Given the description of an element on the screen output the (x, y) to click on. 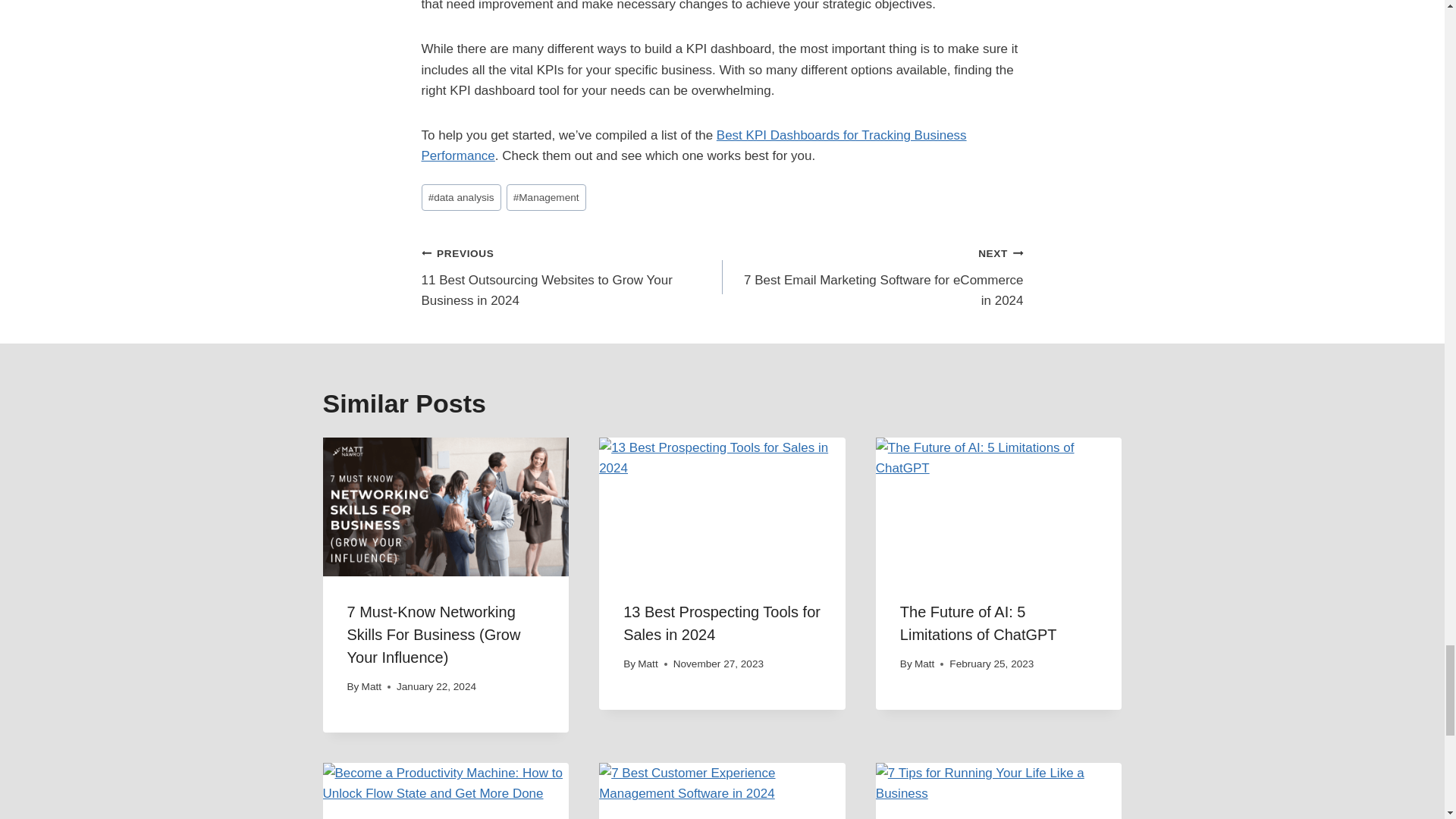
Best KPI Dashboards for Tracking Business Performance (694, 144)
The Future of AI: 5 Limitations of ChatGPT (978, 622)
13 Best Prospecting Tools for Sales in 2024 (722, 622)
Management (546, 197)
data analysis (872, 276)
